Given the description of an element on the screen output the (x, y) to click on. 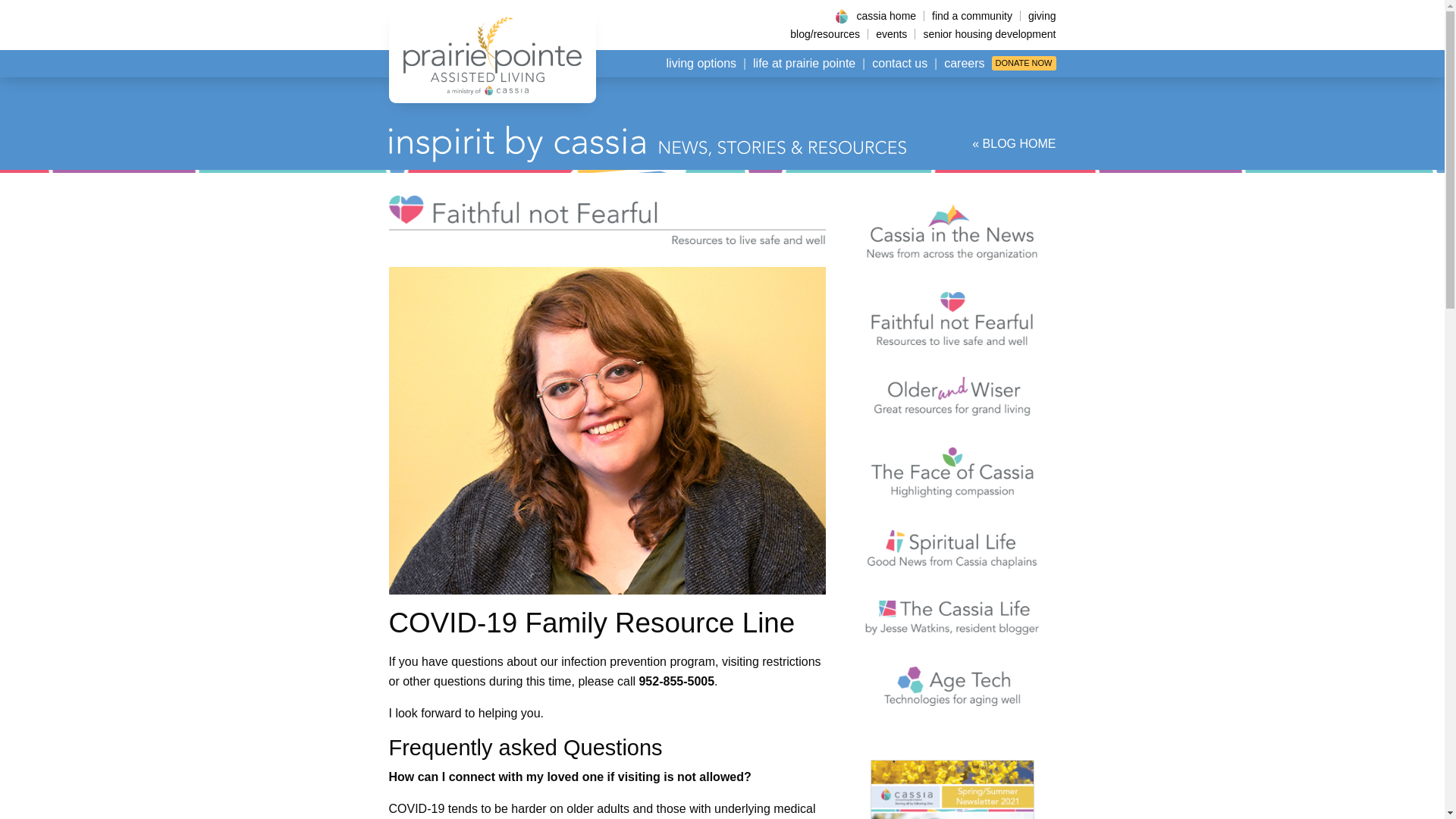
Cassia in the News (951, 231)
find a community (971, 15)
life at prairie pointe (803, 63)
living options (701, 63)
cassia home (885, 15)
senior housing development (984, 33)
DONATE NOW (1024, 63)
giving (1038, 15)
contact us (899, 63)
events (890, 33)
